Given the description of an element on the screen output the (x, y) to click on. 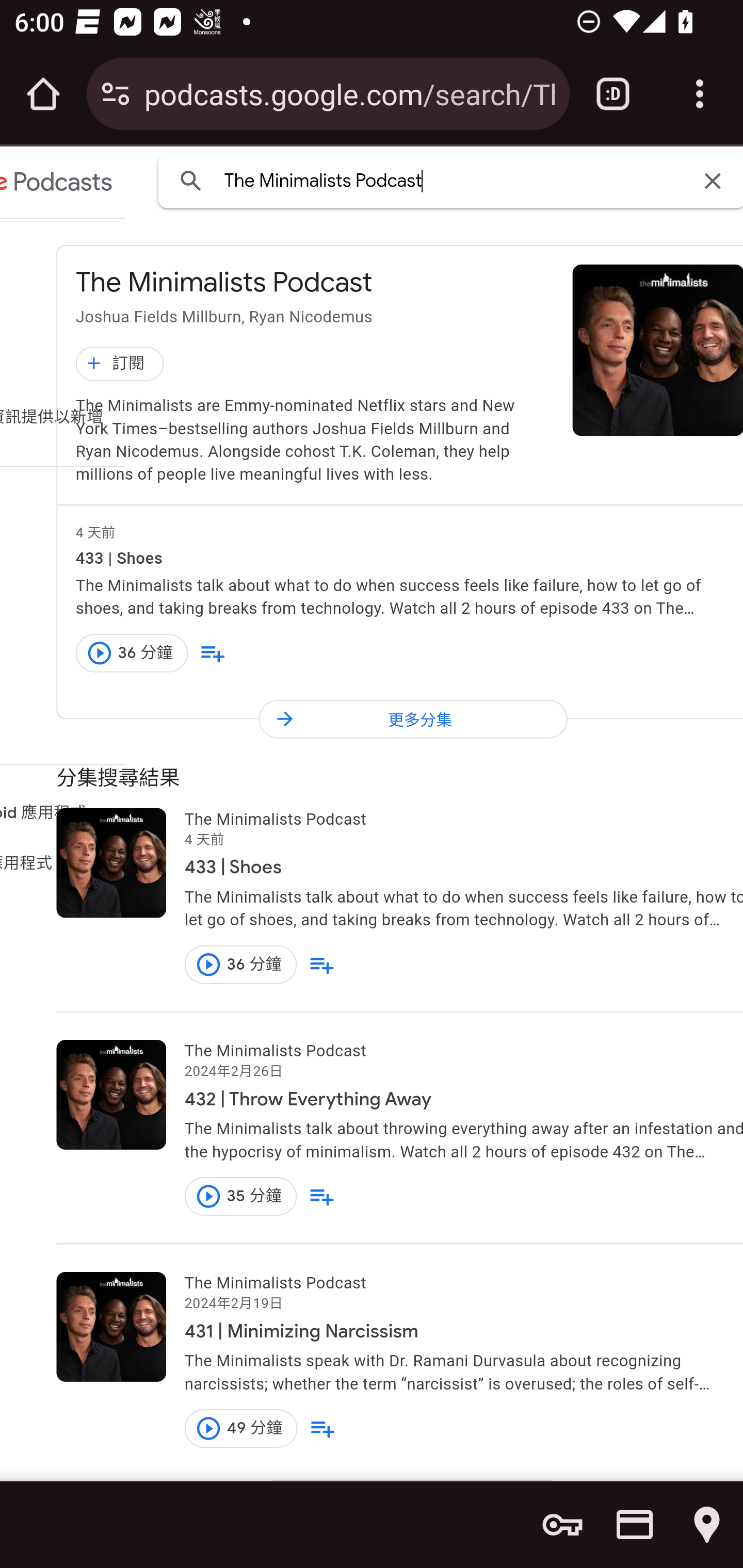
Open the home page (43, 93)
Connection is secure (115, 93)
Switch or close tabs (612, 93)
Customize and control Google Chrome (699, 93)
搜尋 (191, 179)
The Minimalists Podcast (455, 179)
清除搜尋 (711, 179)
Google Podcasts Podcasts (56, 183)
訂閱 (120, 362)
加入序列 (212, 652)
播放此分集 (99, 652)
更多分集 (413, 718)
加入序列 (322, 963)
播放此分集 (208, 964)
加入序列 (322, 1196)
播放此分集 (208, 1196)
加入序列 (322, 1428)
播放此分集 (208, 1428)
Show saved passwords and password options (562, 1524)
Show saved payment methods (634, 1524)
Show saved addresses (706, 1524)
